Given the description of an element on the screen output the (x, y) to click on. 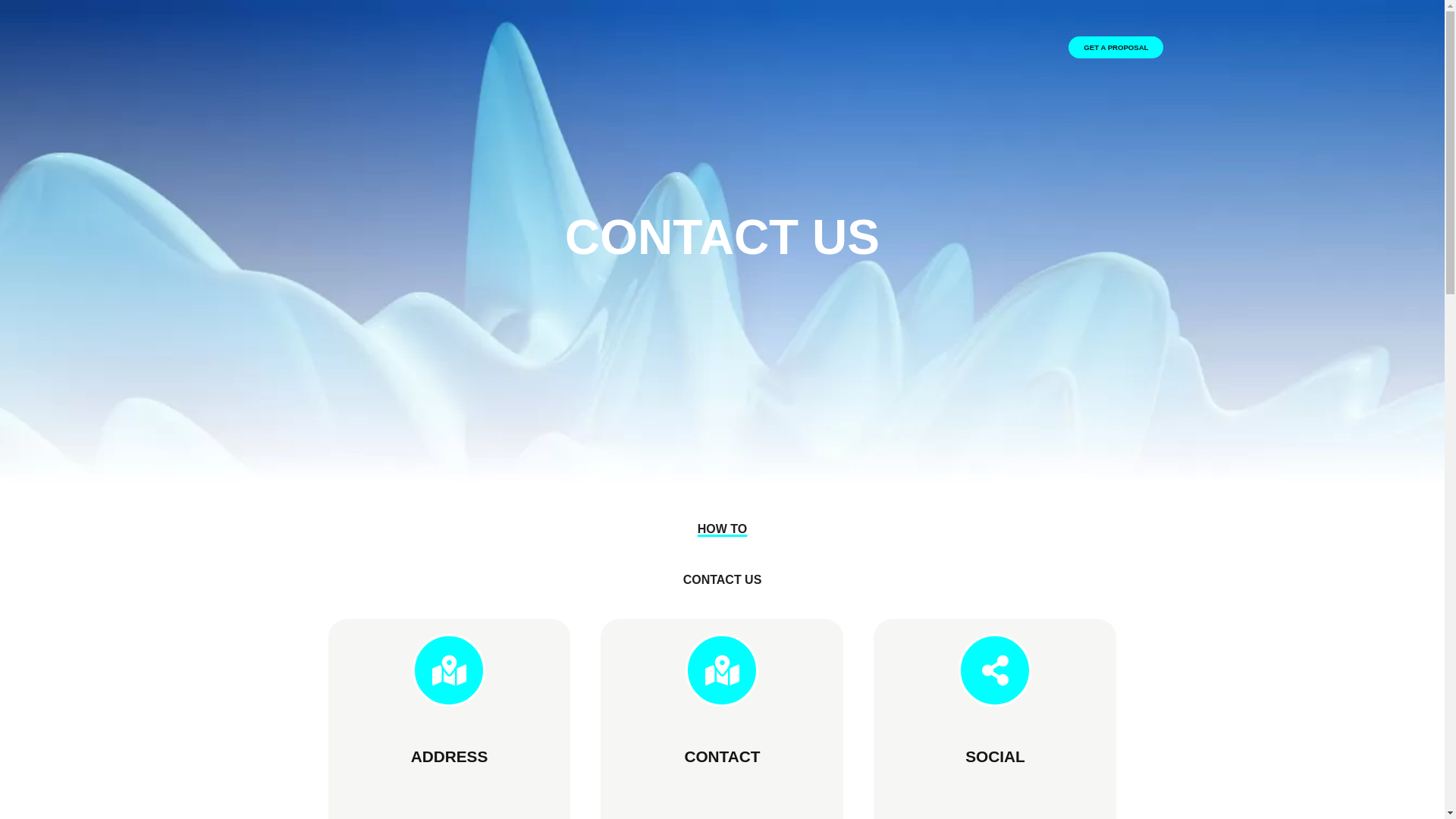
GET A PROPOSAL Element type: text (1115, 47)
